Given the description of an element on the screen output the (x, y) to click on. 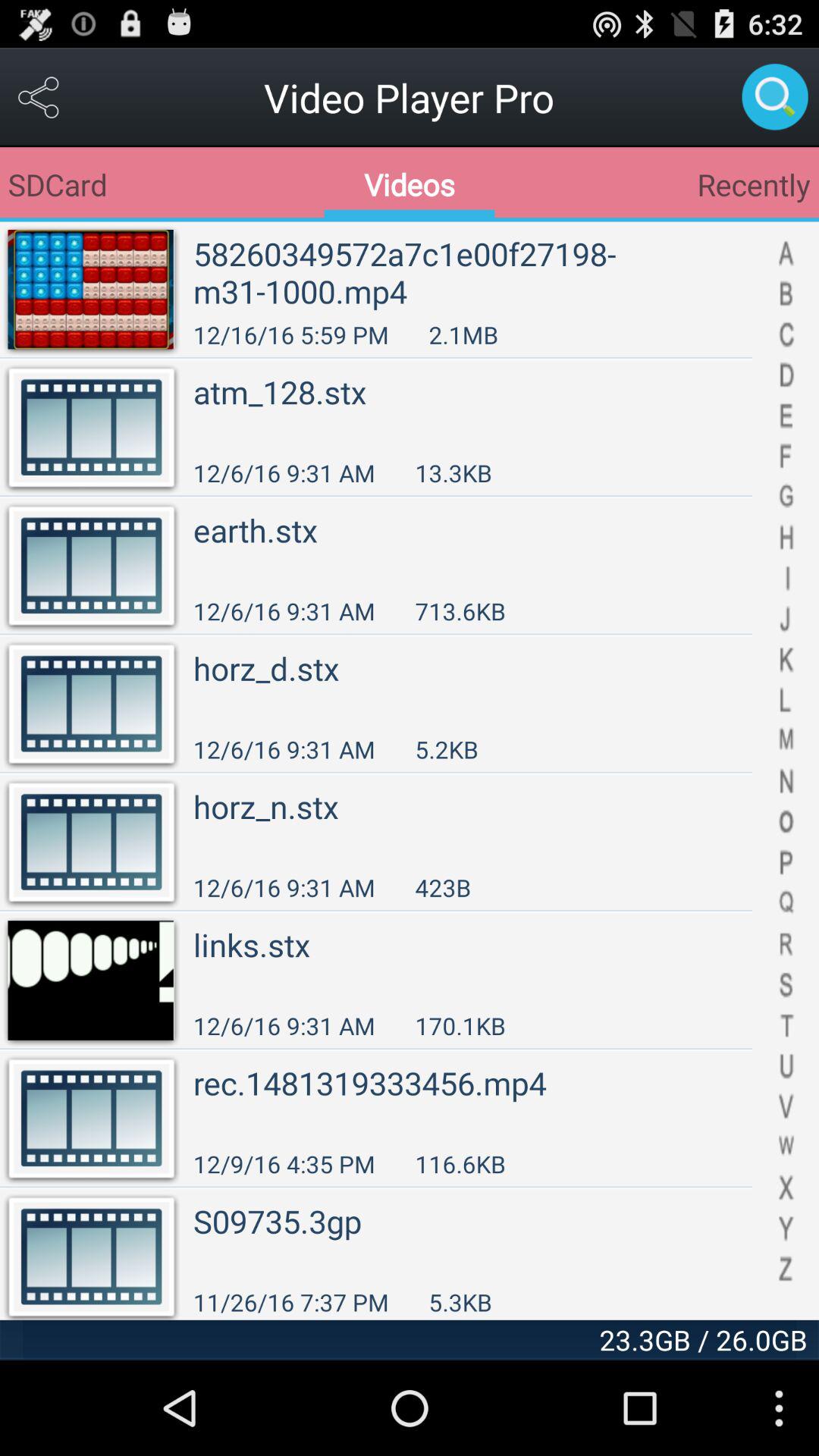
for sreach (774, 97)
